Given the description of an element on the screen output the (x, y) to click on. 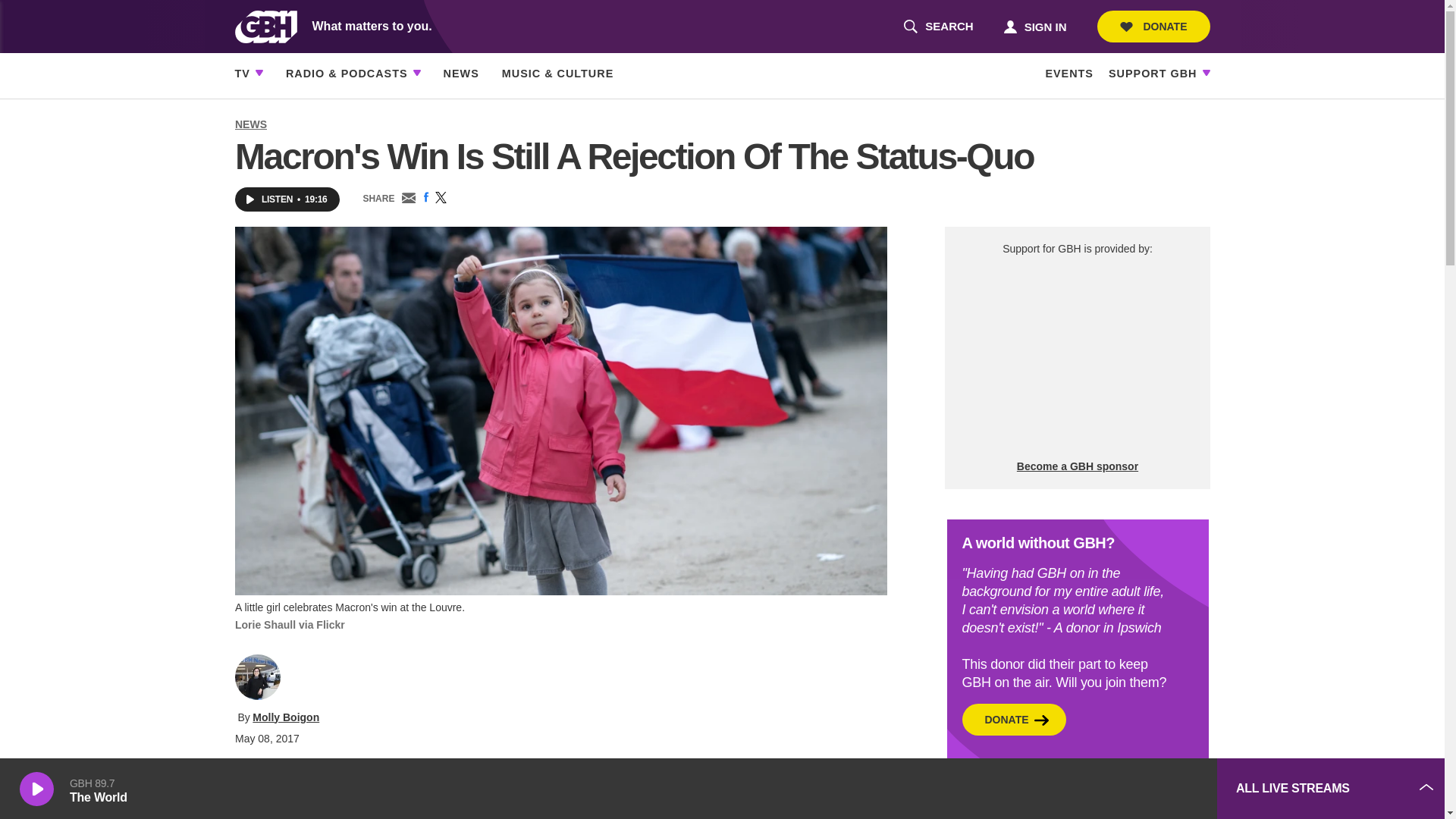
SIGN IN (1034, 25)
3rd party ad content (1091, 788)
DONATE (1153, 26)
3rd party ad content (1076, 357)
